Given the description of an element on the screen output the (x, y) to click on. 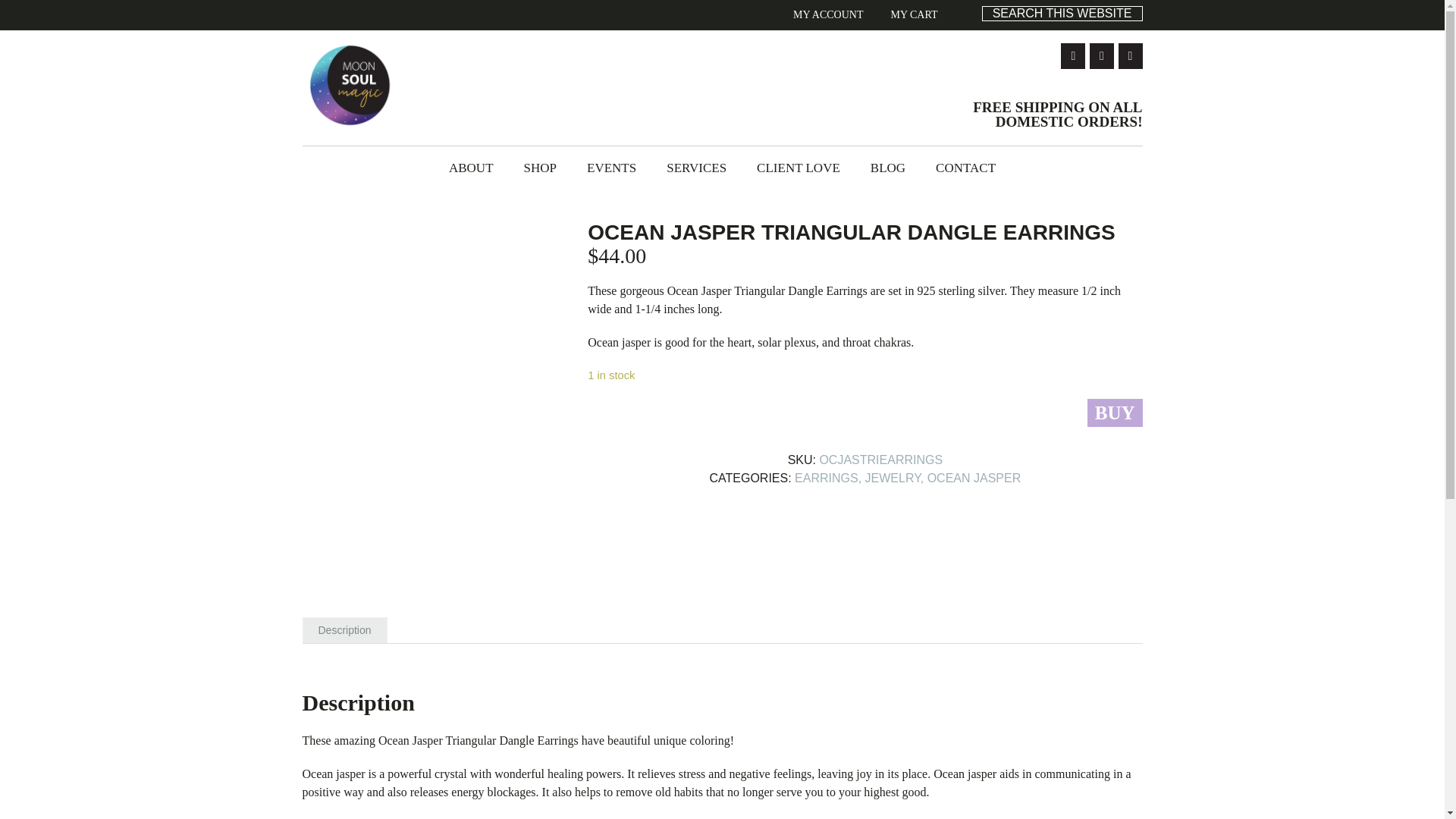
BUY (1114, 412)
ABOUT (470, 167)
Follow Moon Soul Magic on Pinterest! (1129, 55)
CONTACT (965, 167)
Description (344, 630)
EVENTS (611, 167)
BLOG (888, 167)
MY CART (913, 14)
